Given the description of an element on the screen output the (x, y) to click on. 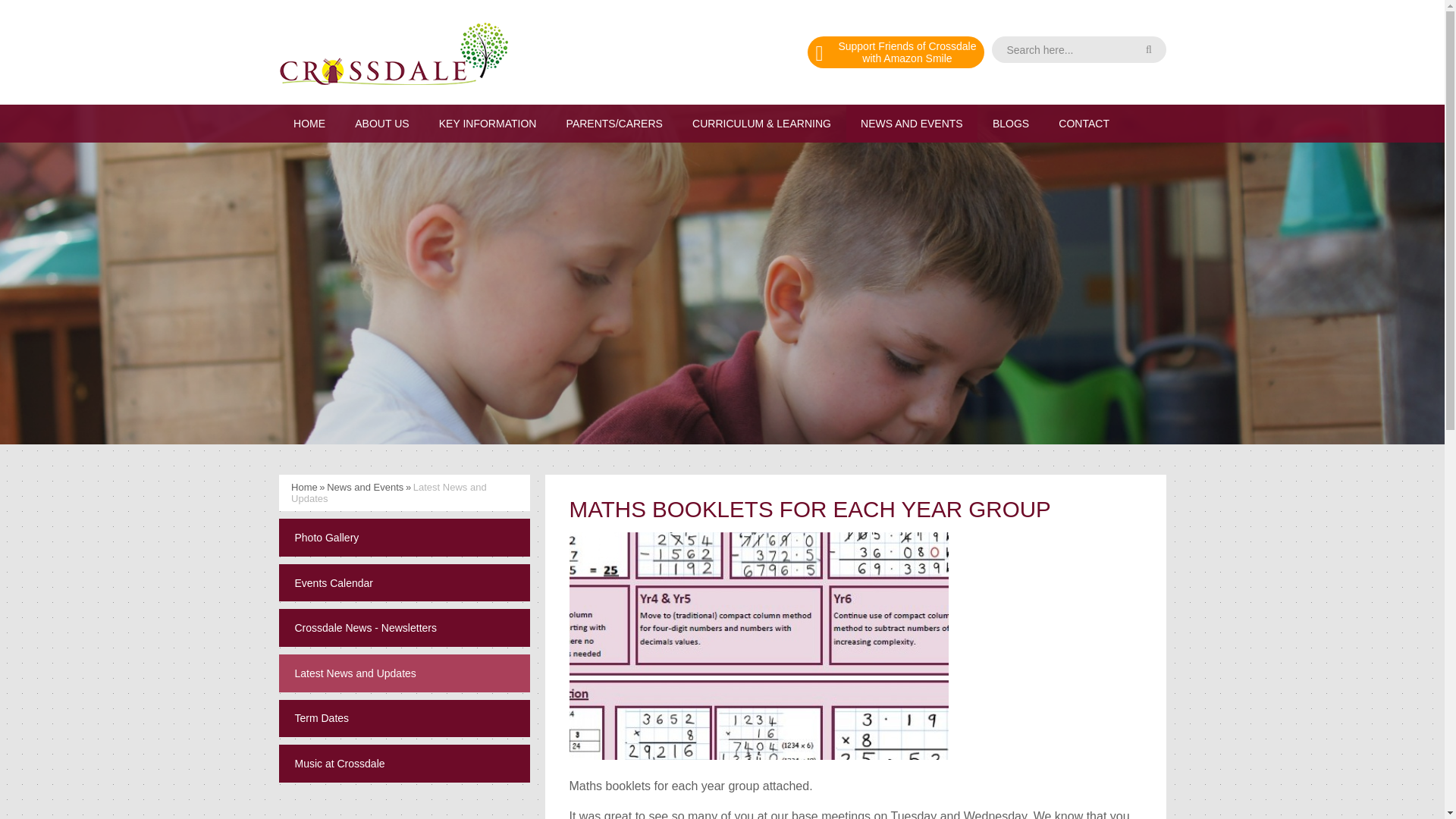
search... (1078, 49)
KEY INFORMATION (487, 123)
HOME (309, 123)
Search here... (896, 51)
ABOUT US (1078, 49)
